Given the description of an element on the screen output the (x, y) to click on. 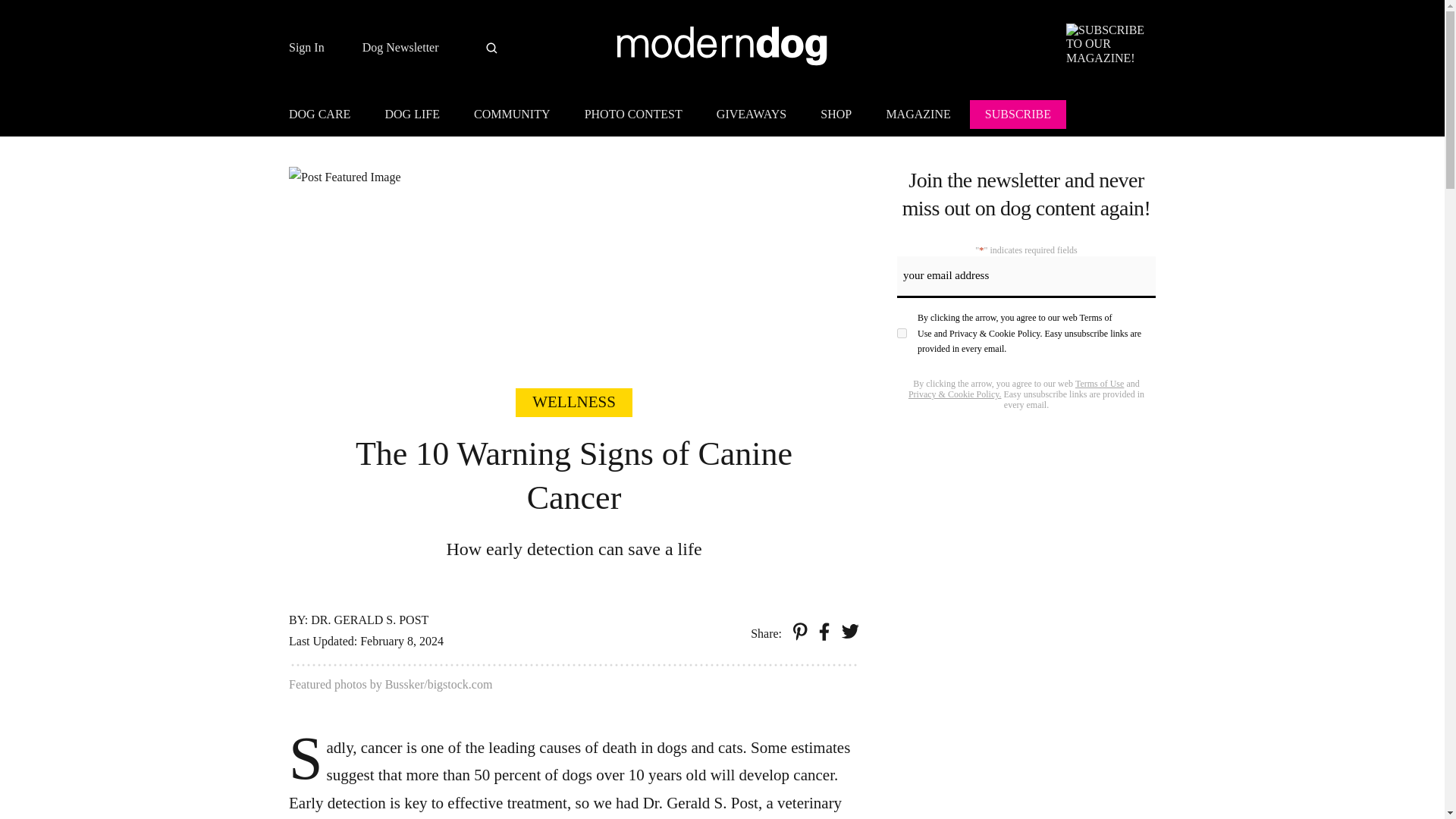
Dog Newsletter (400, 47)
DOG LIFE (411, 116)
Sign In (306, 47)
DOG CARE (326, 116)
